Given the description of an element on the screen output the (x, y) to click on. 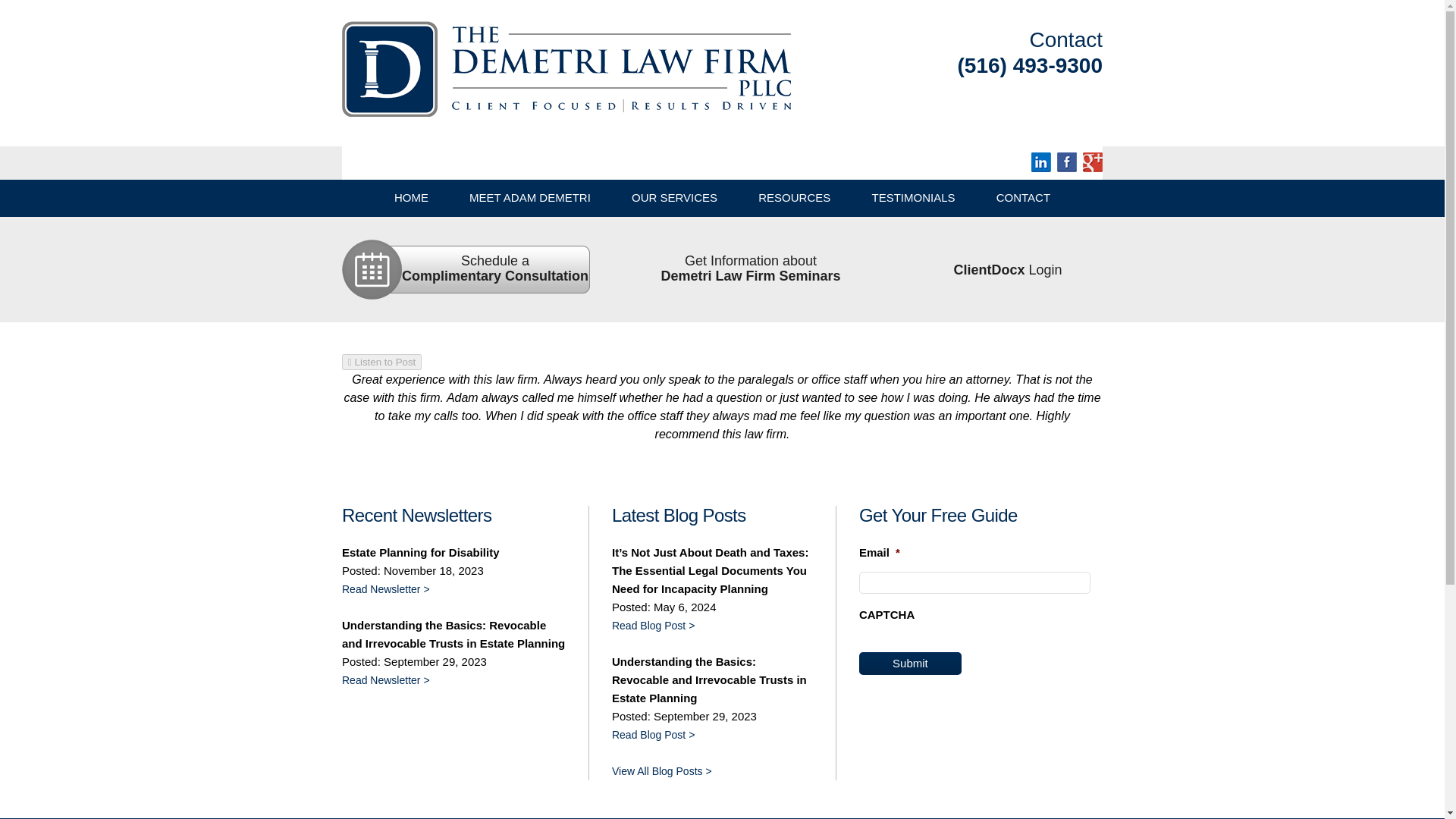
Submit (909, 662)
HOME (750, 268)
RESOURCES (411, 197)
TESTIMONIALS (794, 197)
MEET ADAM DEMETRI (912, 197)
OUR SERVICES (529, 197)
ClientDocx Login (674, 197)
CONTACT (494, 268)
